Given the description of an element on the screen output the (x, y) to click on. 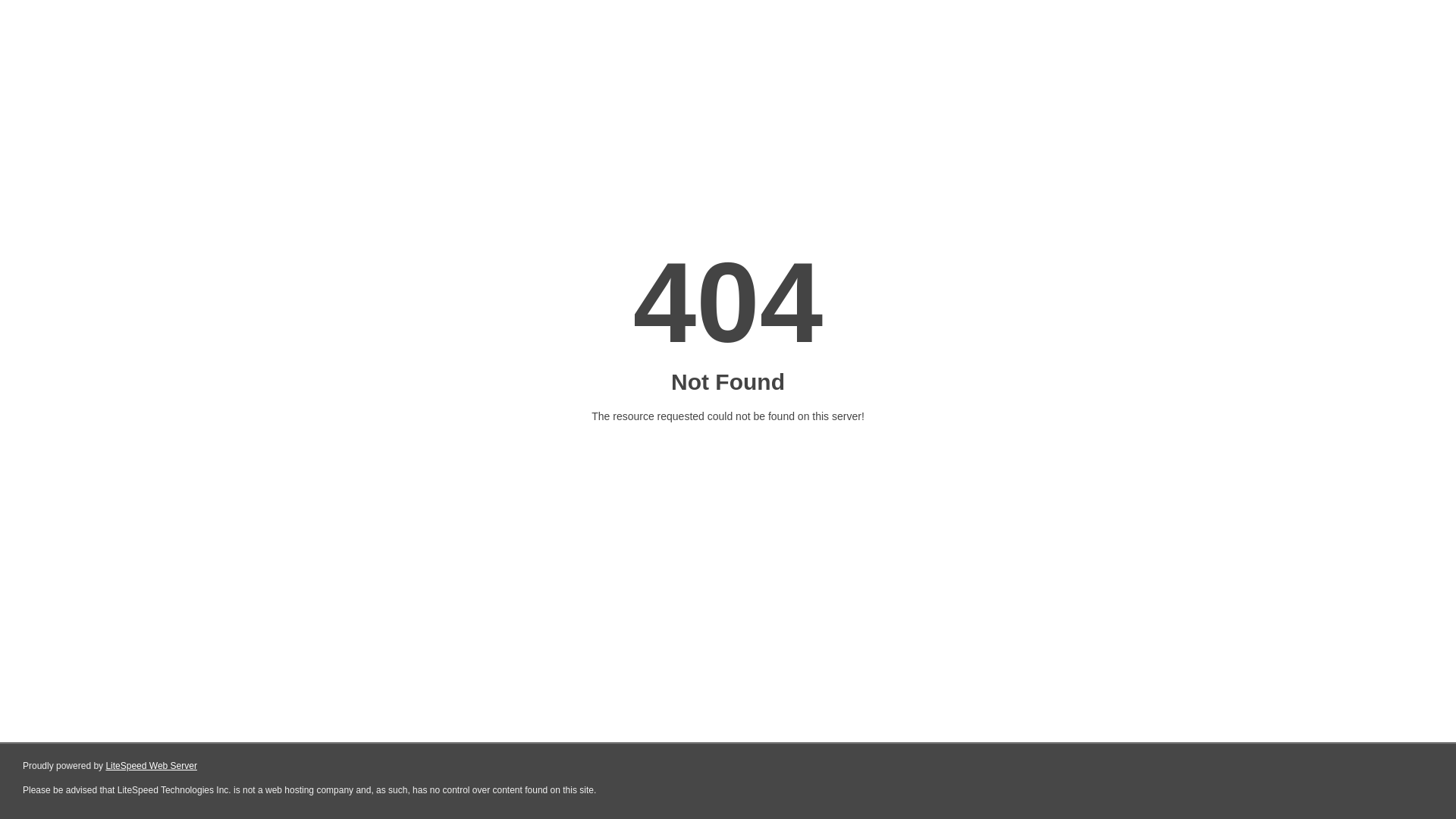
LiteSpeed Web Server Element type: text (151, 765)
